Given the description of an element on the screen output the (x, y) to click on. 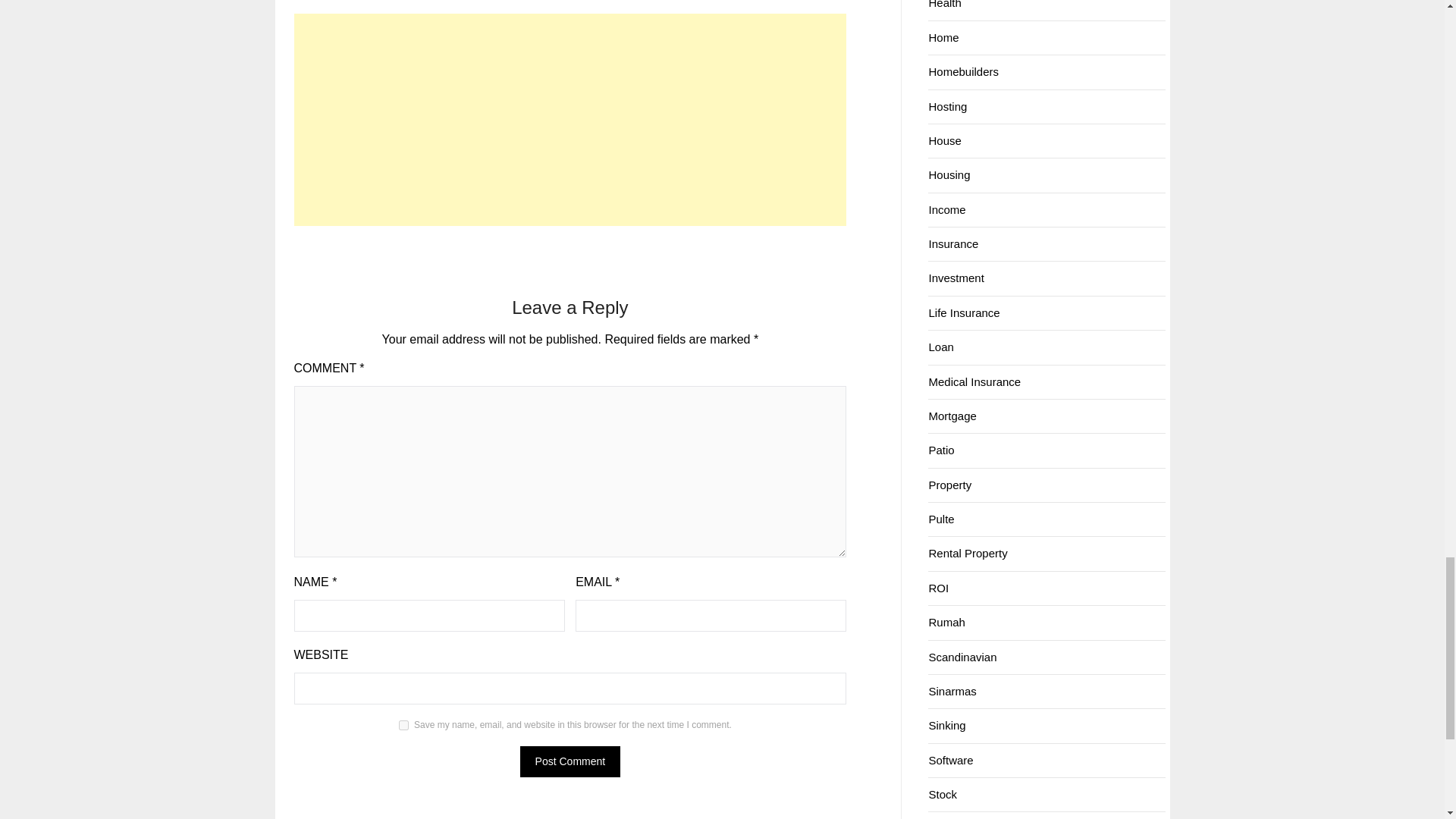
Post Comment (570, 761)
Advertisement (570, 119)
Post Comment (570, 761)
yes (403, 725)
